Given the description of an element on the screen output the (x, y) to click on. 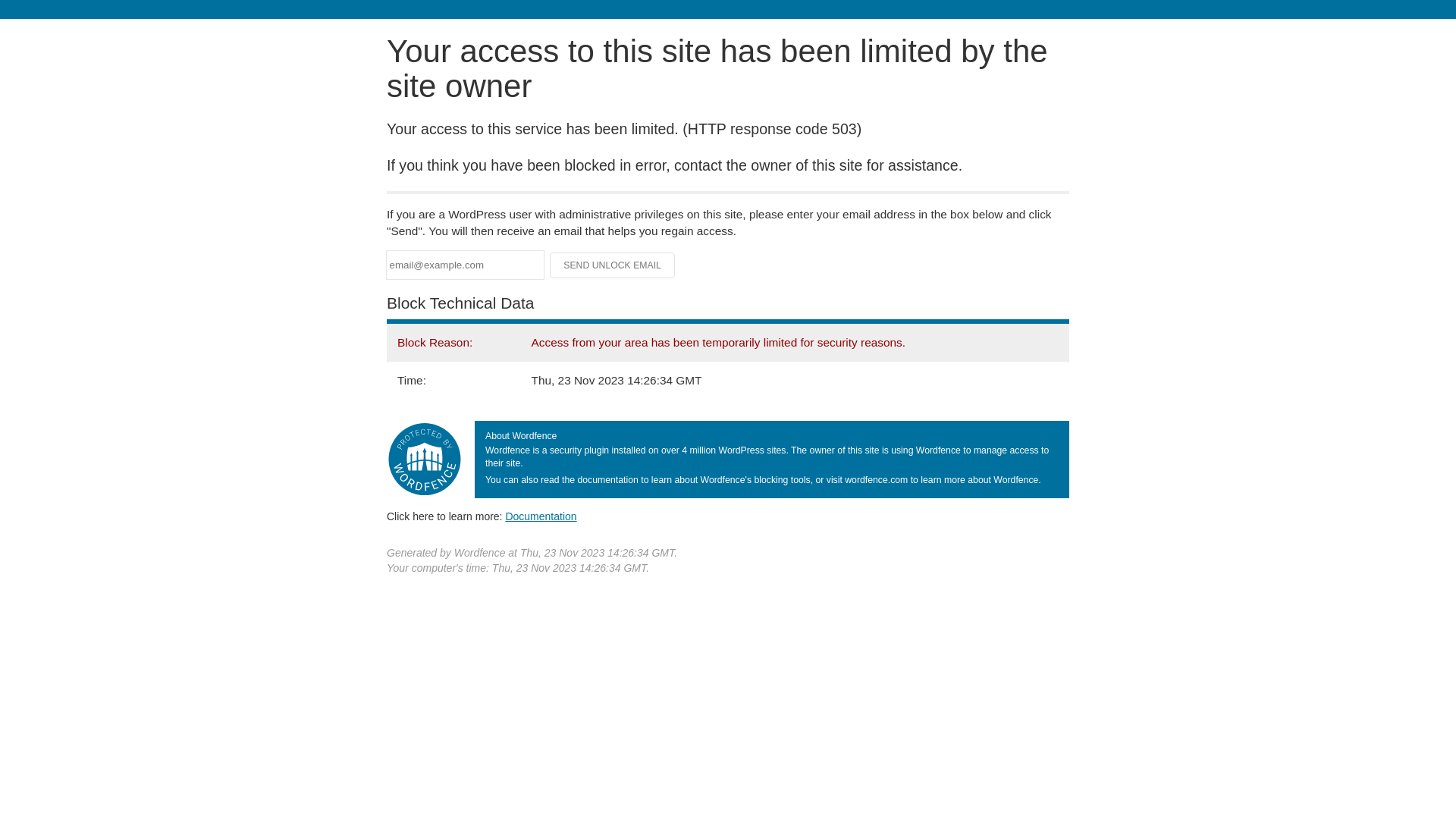
Documentation Element type: text (540, 516)
Send Unlock Email Element type: text (612, 265)
